Given the description of an element on the screen output the (x, y) to click on. 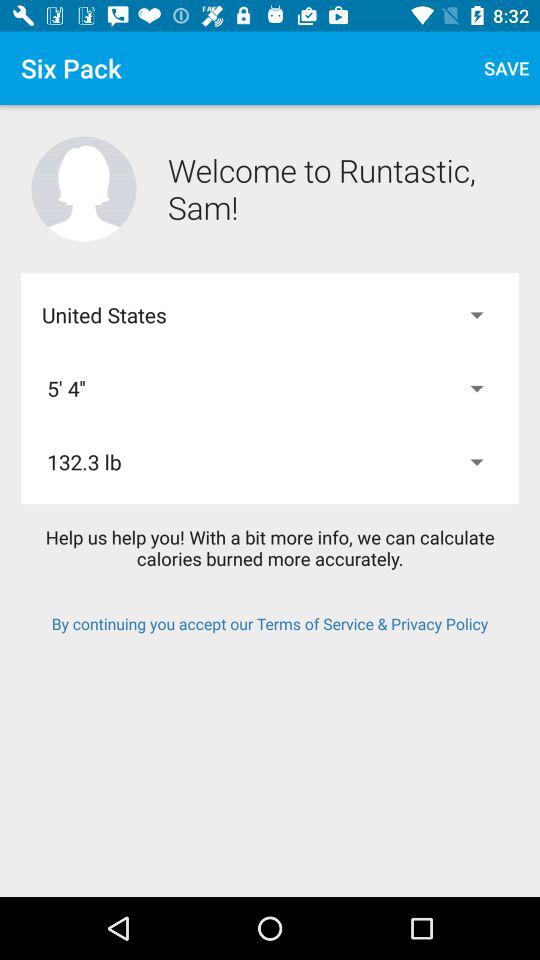
click the save at the top right corner (506, 67)
